Given the description of an element on the screen output the (x, y) to click on. 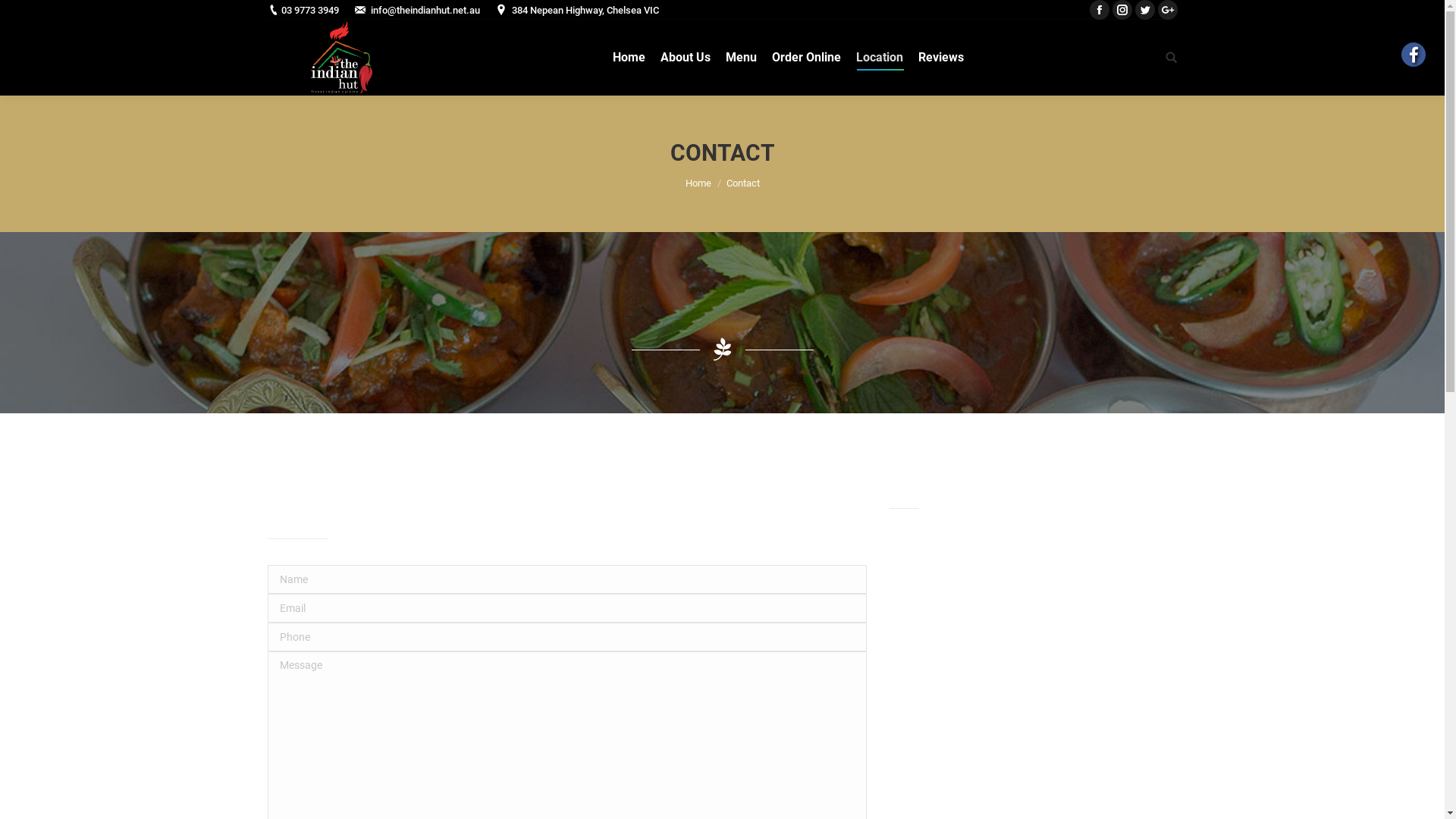
Menu Element type: text (740, 57)
Location Element type: text (878, 57)
Order Online Element type: text (806, 57)
  Element type: text (1170, 57)
Reviews Element type: text (940, 57)
Home Element type: text (628, 57)
About Us Element type: text (684, 57)
Go! Element type: text (21, 14)
Instagram Element type: text (1121, 9)
Facebook Element type: text (1098, 9)
Twitter Element type: text (1144, 9)
Home Element type: text (698, 182)
Google+ Element type: text (1166, 9)
